Given the description of an element on the screen output the (x, y) to click on. 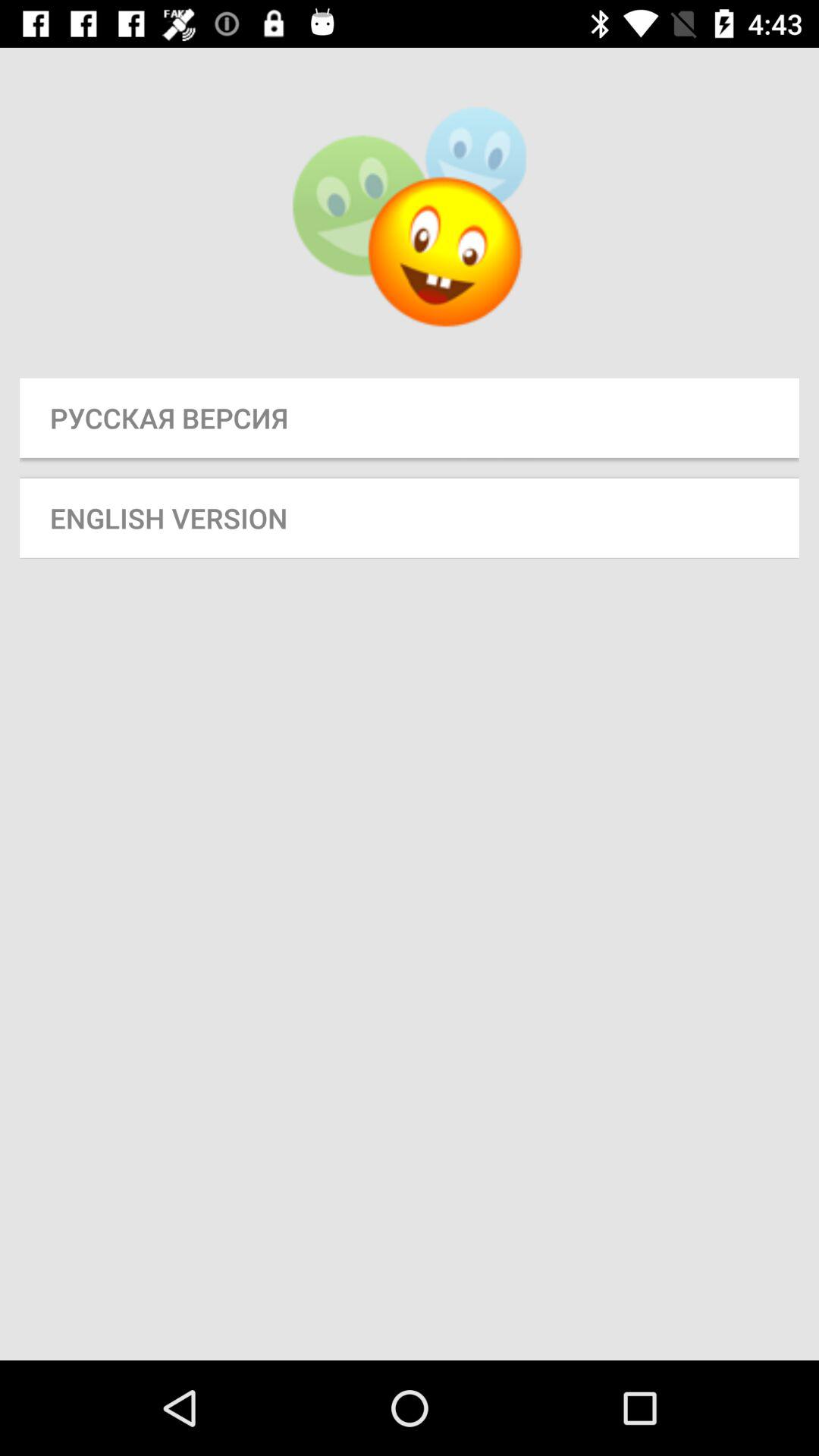
swipe to english version button (409, 517)
